Given the description of an element on the screen output the (x, y) to click on. 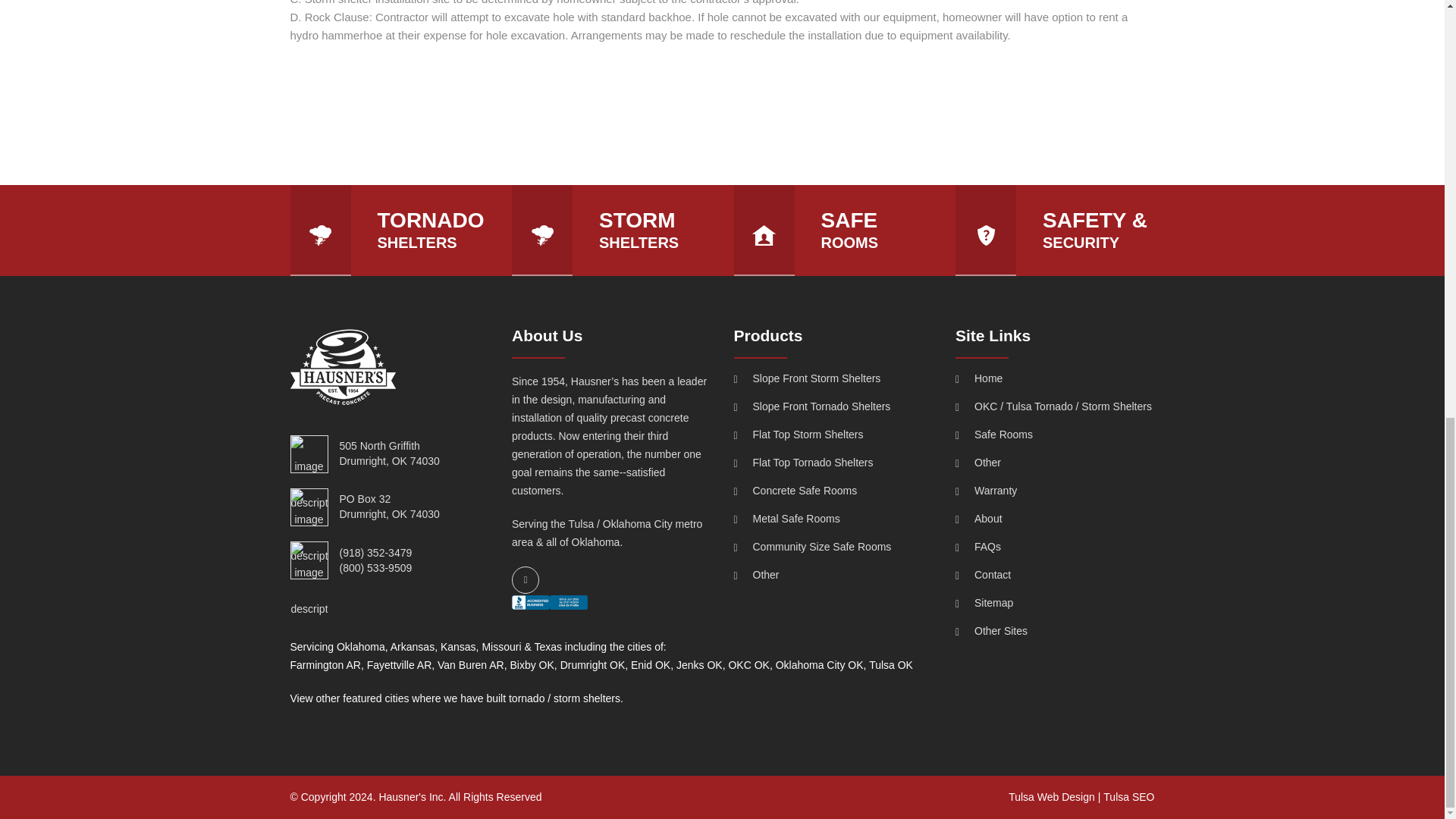
Flat Top Storm Shelters (833, 434)
Metal Safe Rooms (833, 518)
Home (1054, 378)
Safe Rooms (1054, 434)
Slope Front Tornado Shelters (833, 406)
Other (833, 574)
Warranty (1054, 490)
Slope Front Storm Shelters (833, 378)
Flat Top Tornado Shelters (833, 462)
